Given the description of an element on the screen output the (x, y) to click on. 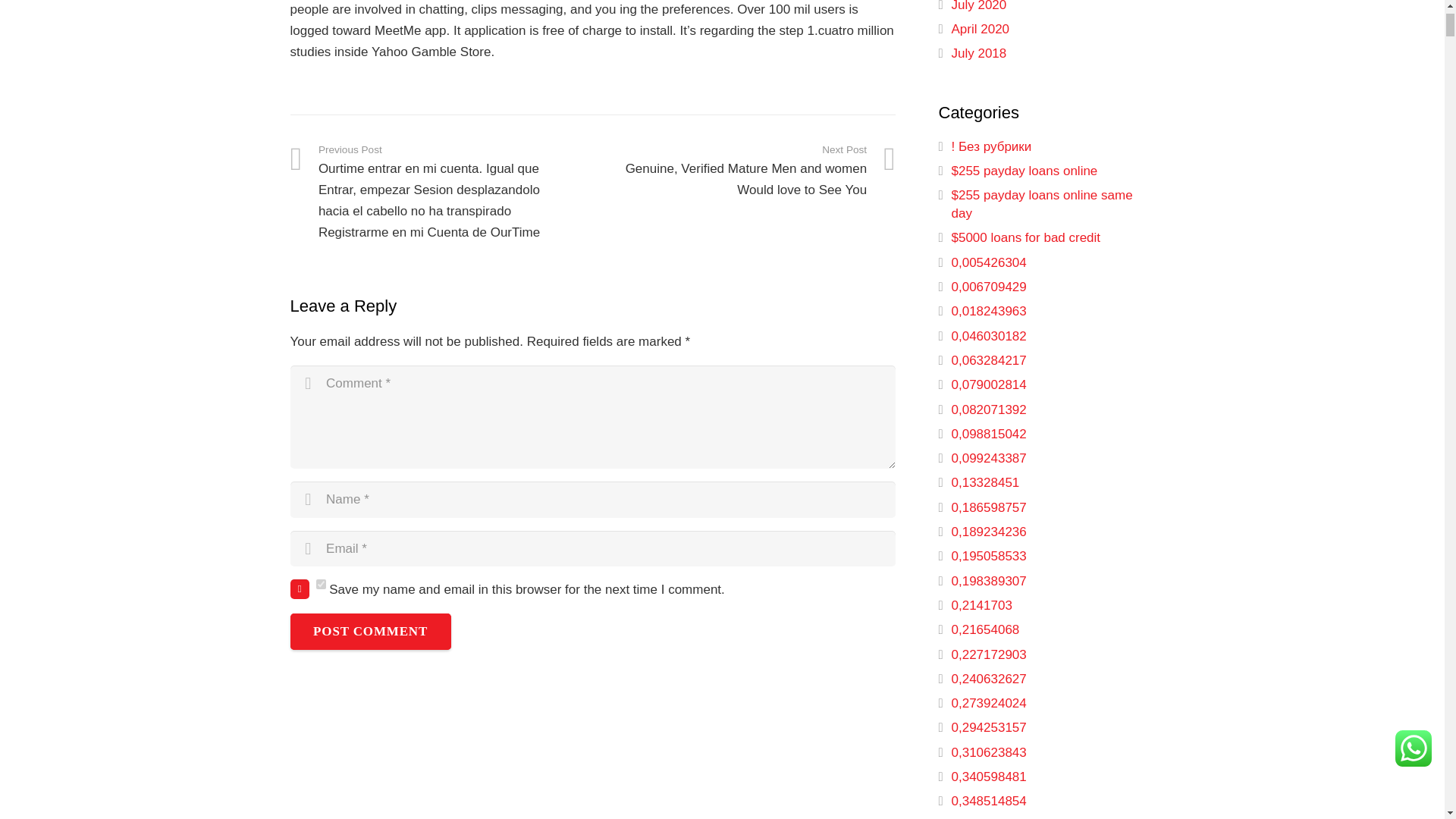
on (319, 583)
POST COMMENT (369, 631)
